Given the description of an element on the screen output the (x, y) to click on. 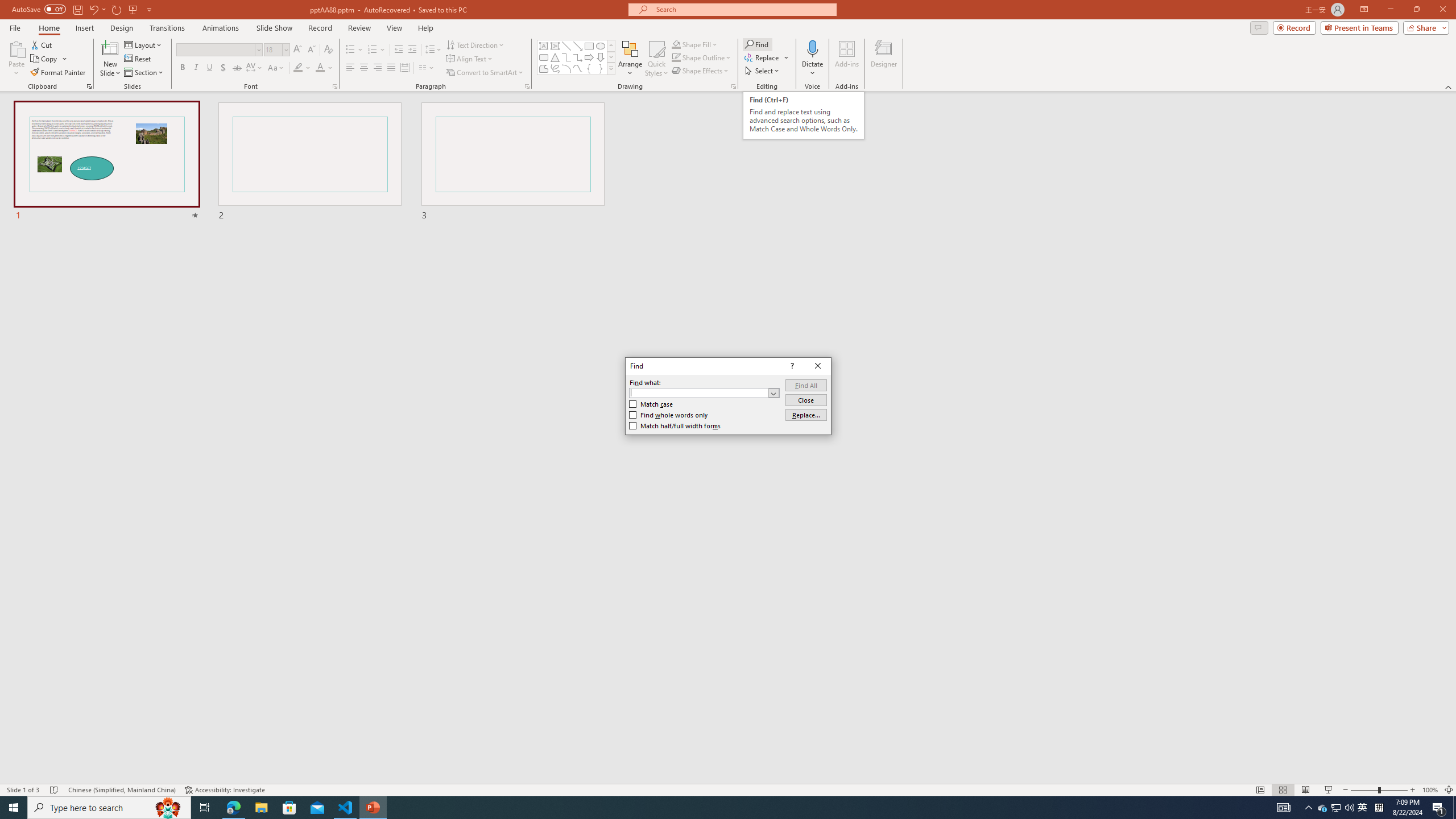
Find whole words only (668, 414)
Match half/full width forms (675, 425)
